Given the description of an element on the screen output the (x, y) to click on. 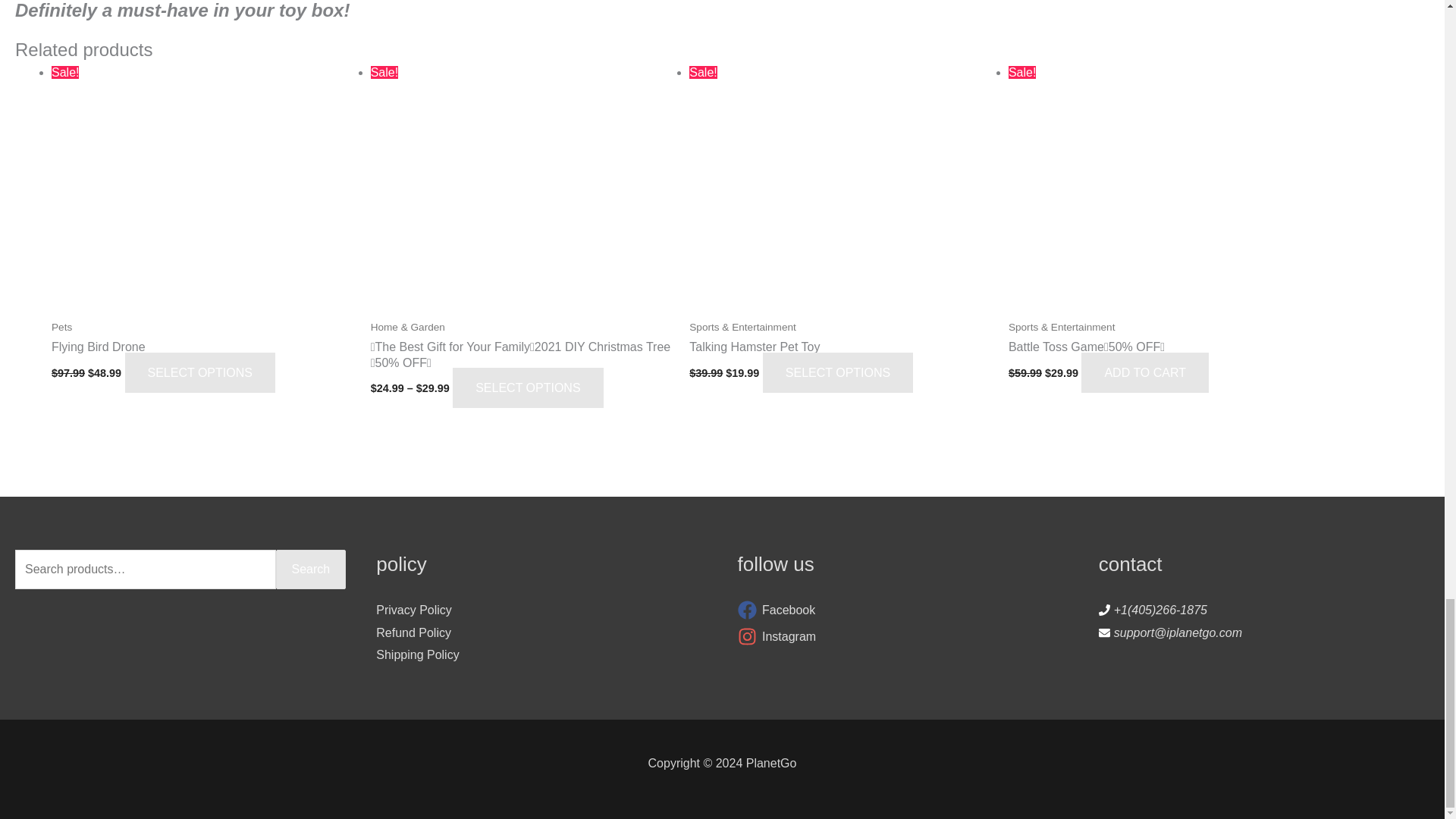
Instagram (901, 636)
Facebook (901, 609)
SELECT OPTIONS (527, 387)
Refund Policy (413, 632)
SELECT OPTIONS (200, 372)
SELECT OPTIONS (837, 372)
Talking Hamster Pet Toy (840, 359)
Shipping Policy (416, 654)
Search (311, 568)
ADD TO CART (1144, 372)
